Given the description of an element on the screen output the (x, y) to click on. 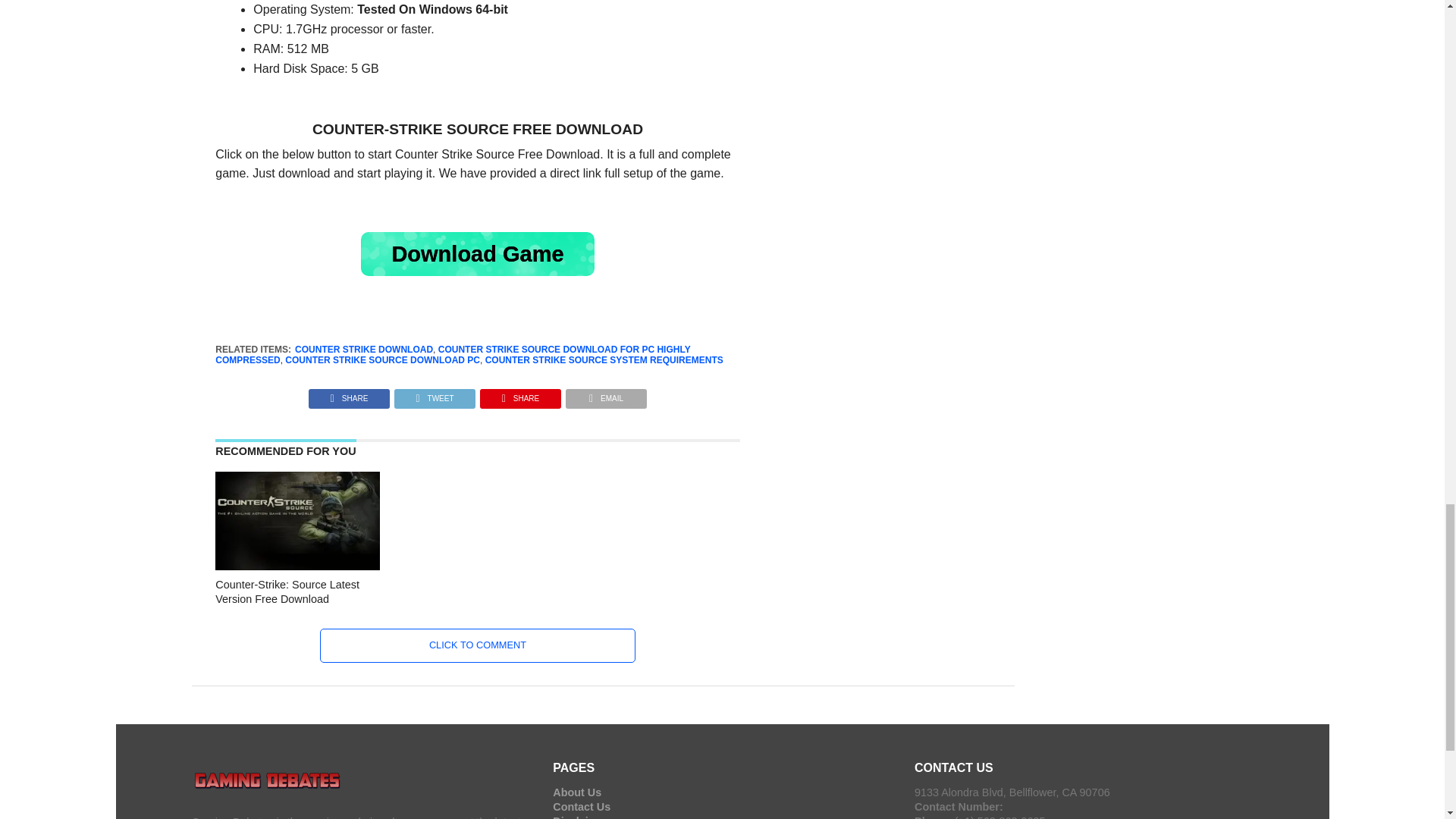
Download Game (477, 253)
COUNTER STRIKE SOURCE DOWNLOAD PC (382, 359)
COUNTER STRIKE SOURCE DOWNLOAD FOR PC HIGHLY COMPRESSED (452, 354)
Pin This Post (520, 394)
COUNTER STRIKE SOURCE SYSTEM REQUIREMENTS (603, 359)
COUNTER STRIKE DOWNLOAD (363, 348)
SHARE (349, 394)
TWEET (434, 394)
Counter-Strike: Source Latest Version Free Download (297, 565)
Tweet This Post (434, 394)
